Given the description of an element on the screen output the (x, y) to click on. 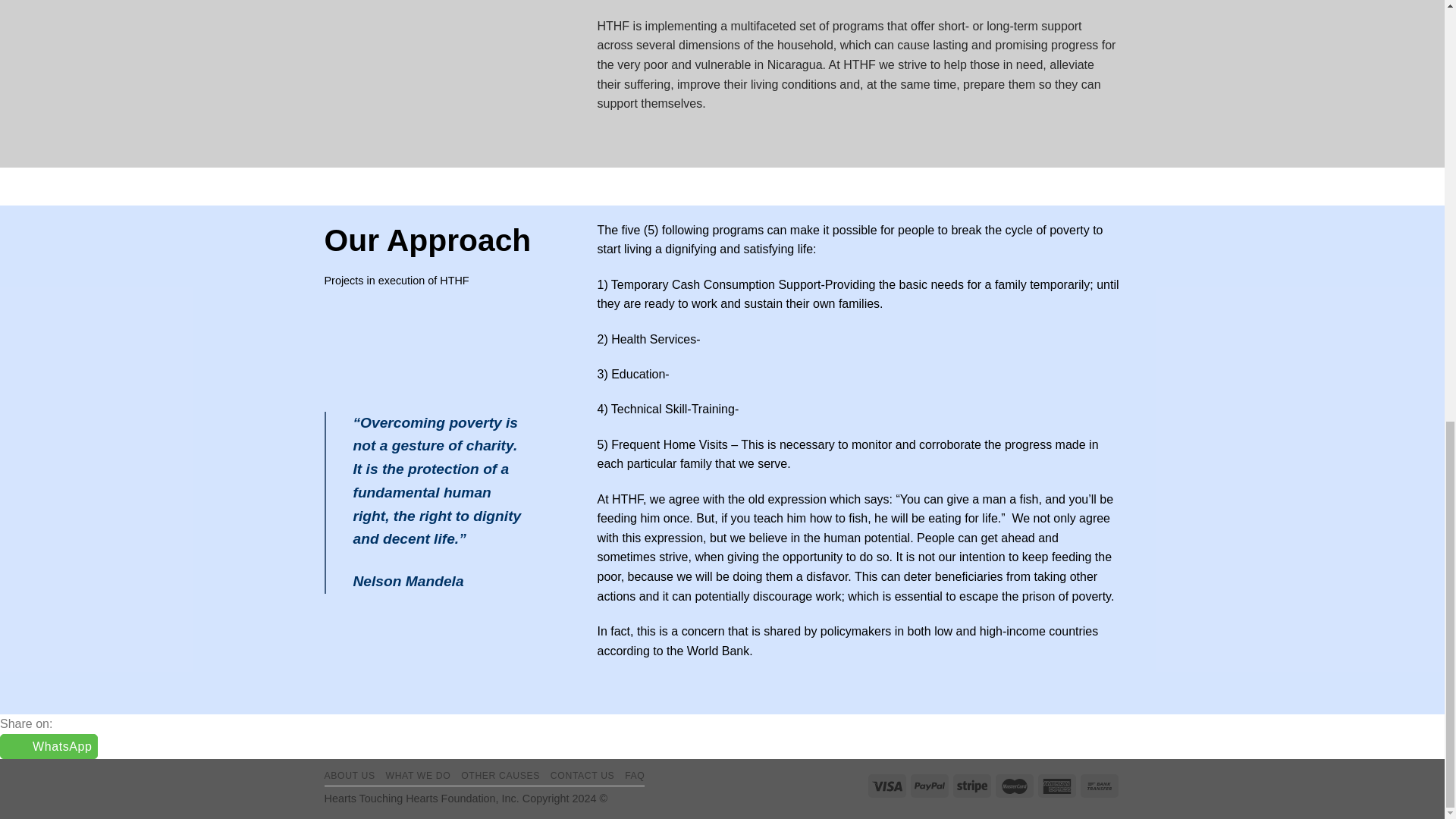
OTHER CAUSES (500, 775)
WHAT WE DO (418, 775)
FAQ (634, 775)
WhatsApp (48, 746)
CONTACT US (582, 775)
ABOUT US (349, 775)
